Given the description of an element on the screen output the (x, y) to click on. 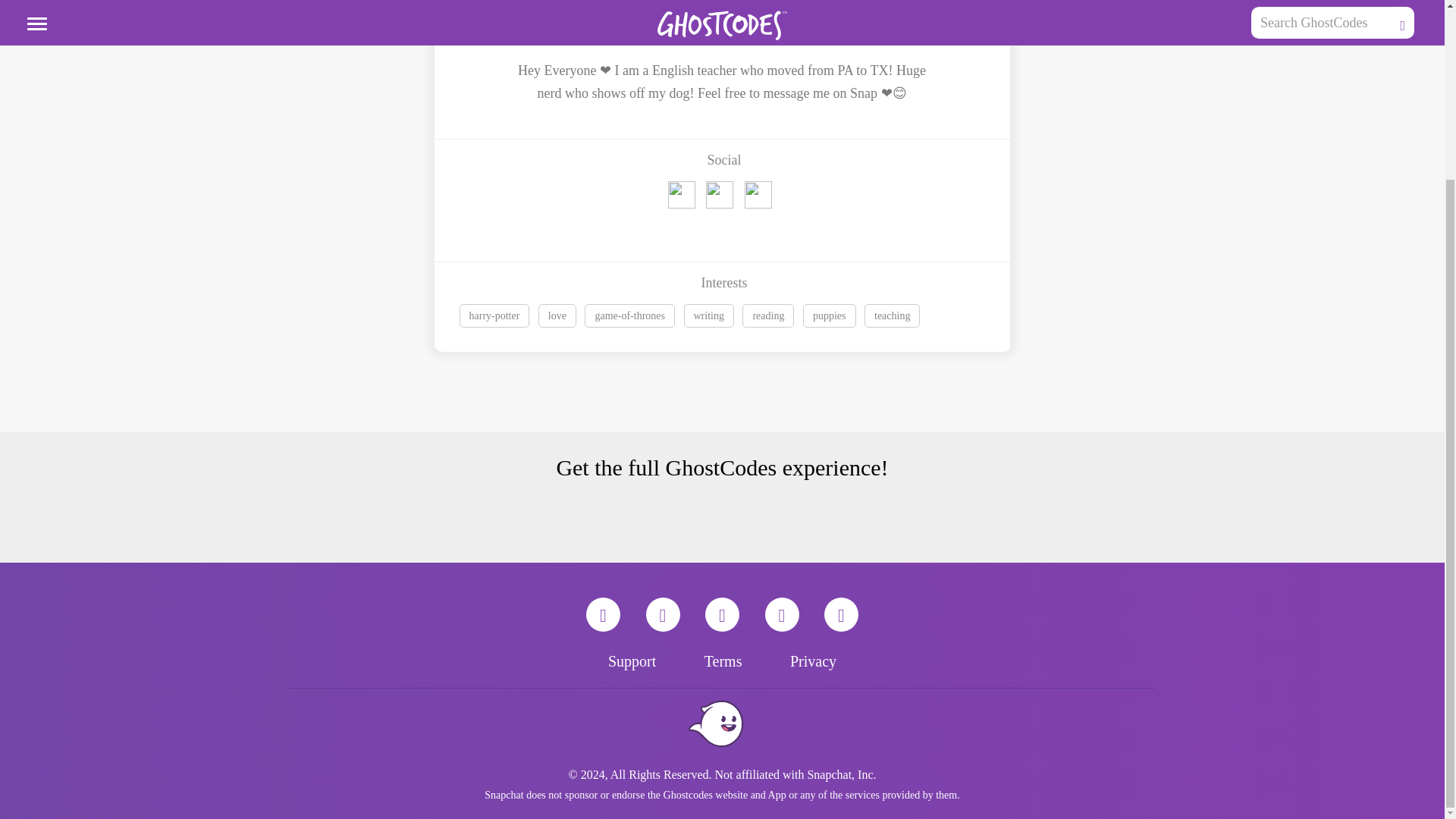
puppies (833, 317)
puppies (829, 315)
teaching (892, 315)
reading (772, 317)
Twitter (721, 614)
Support (632, 661)
Instagram (780, 614)
reading (767, 315)
harry-potter (499, 317)
teaching (895, 317)
harry-potter (494, 315)
writing (708, 315)
Twitter (725, 199)
writing (713, 317)
Snapchat (603, 614)
